Given the description of an element on the screen output the (x, y) to click on. 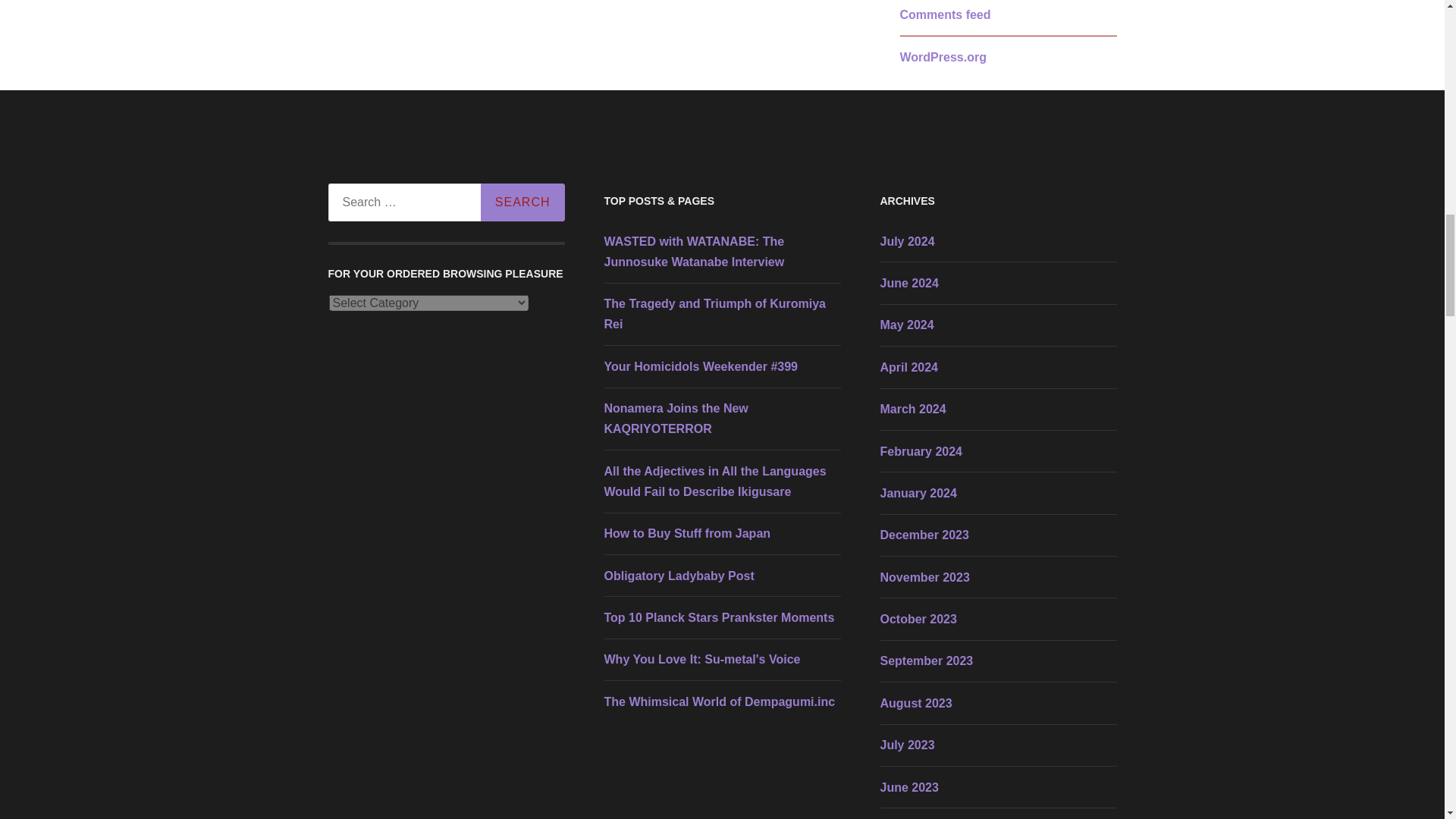
Search (522, 202)
Search (522, 202)
